Given the description of an element on the screen output the (x, y) to click on. 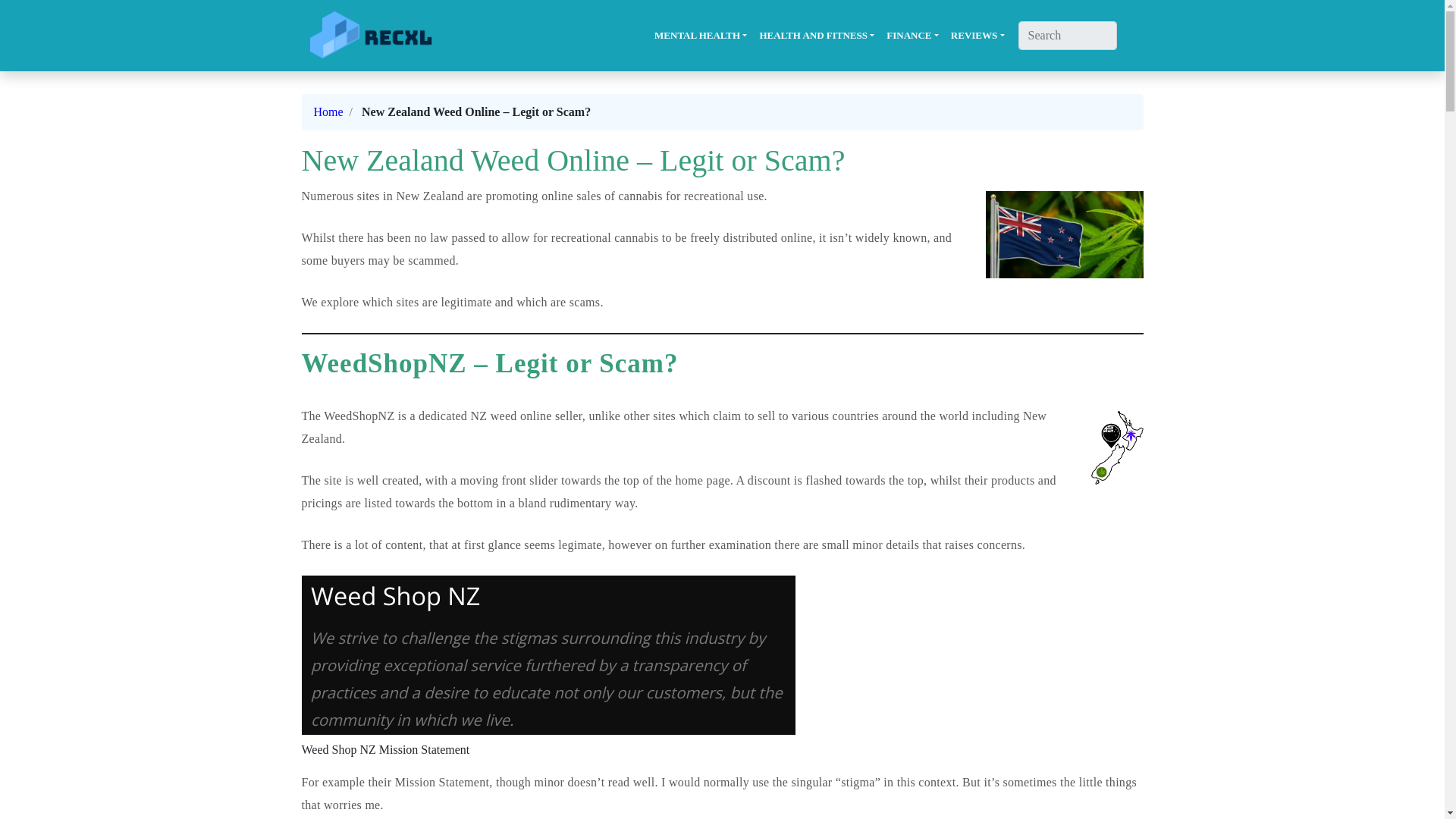
FINANCE (912, 35)
Mental Health (699, 35)
MENTAL HEALTH (699, 35)
REVIEWS (977, 35)
Finance (912, 35)
Health and Fitness (816, 35)
HEALTH AND FITNESS (816, 35)
